Given the description of an element on the screen output the (x, y) to click on. 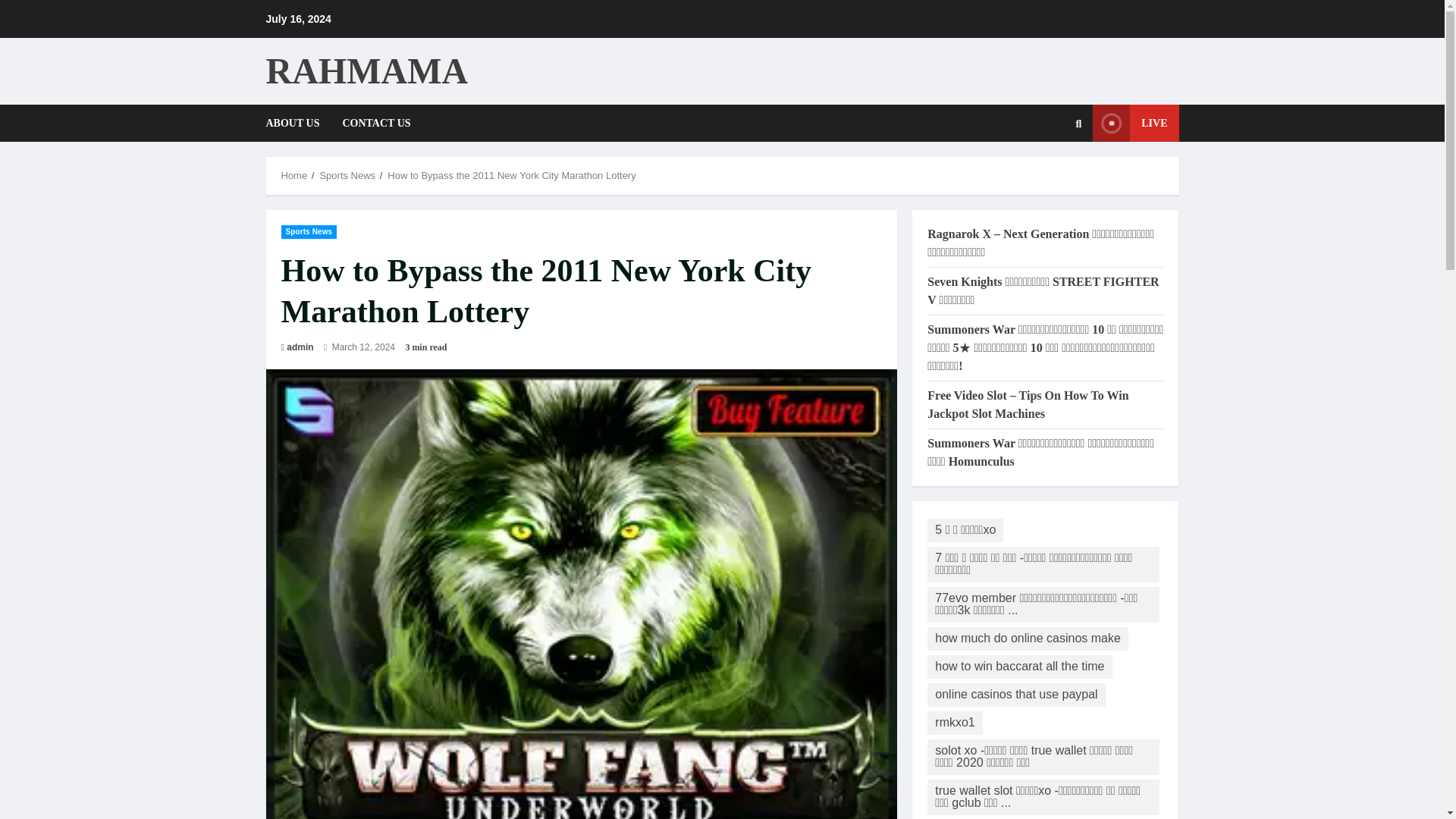
Home (294, 174)
how to win baccarat all the time (1019, 666)
CONTACT US (370, 122)
Sports News (308, 231)
ABOUT US (297, 122)
LIVE (1135, 122)
Search (1042, 174)
How to Bypass the 2011 New York City Marathon Lottery (510, 174)
how much do online casinos make (1027, 638)
admin (299, 346)
rmkxo1 (954, 722)
RAHMAMA (365, 70)
Sports News (346, 174)
online casinos that use paypal (1016, 693)
